Given the description of an element on the screen output the (x, y) to click on. 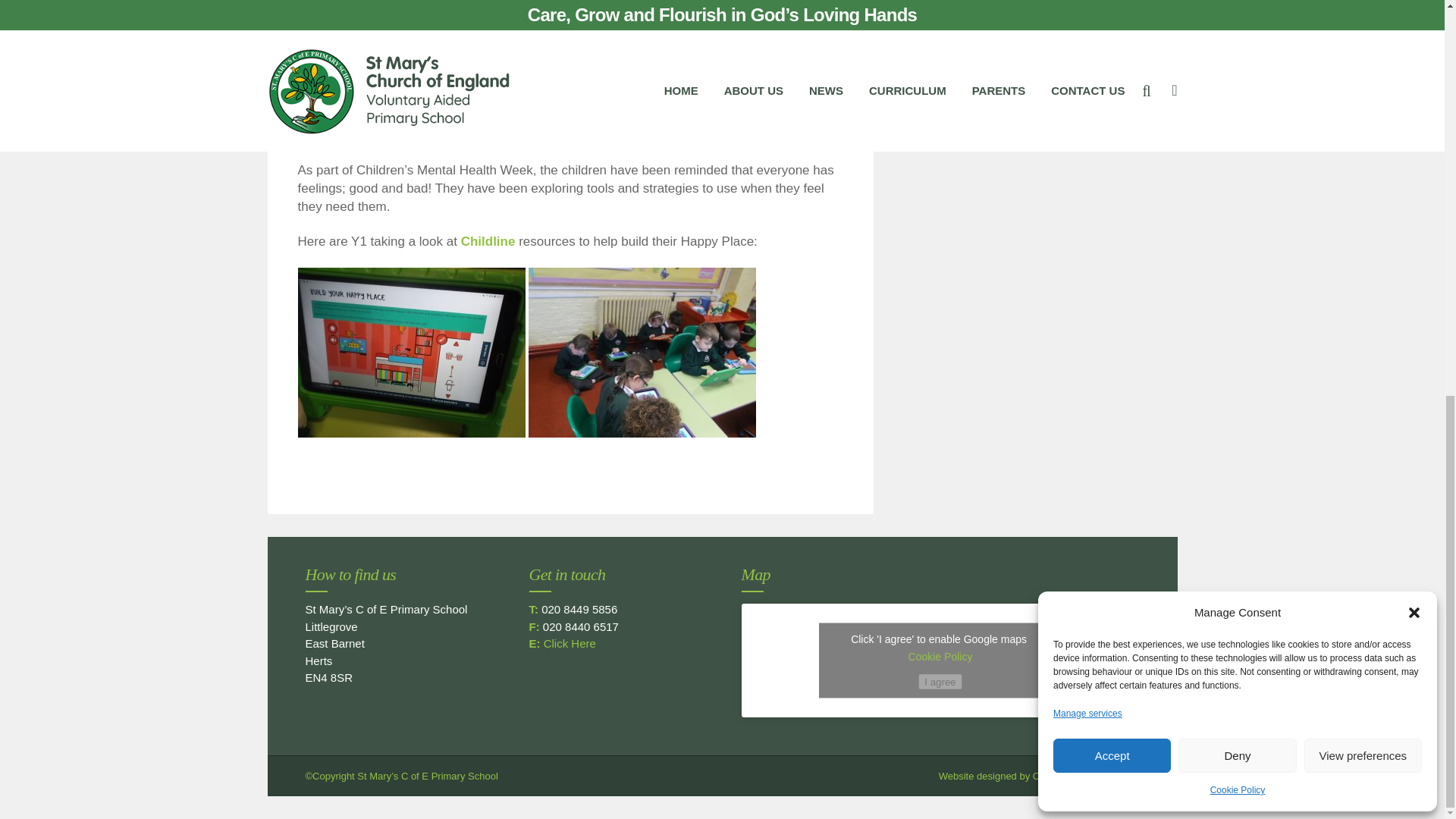
Deny (1236, 3)
Cookie Policy (1237, 25)
Accept (1111, 3)
View preferences (1363, 3)
